Given the description of an element on the screen output the (x, y) to click on. 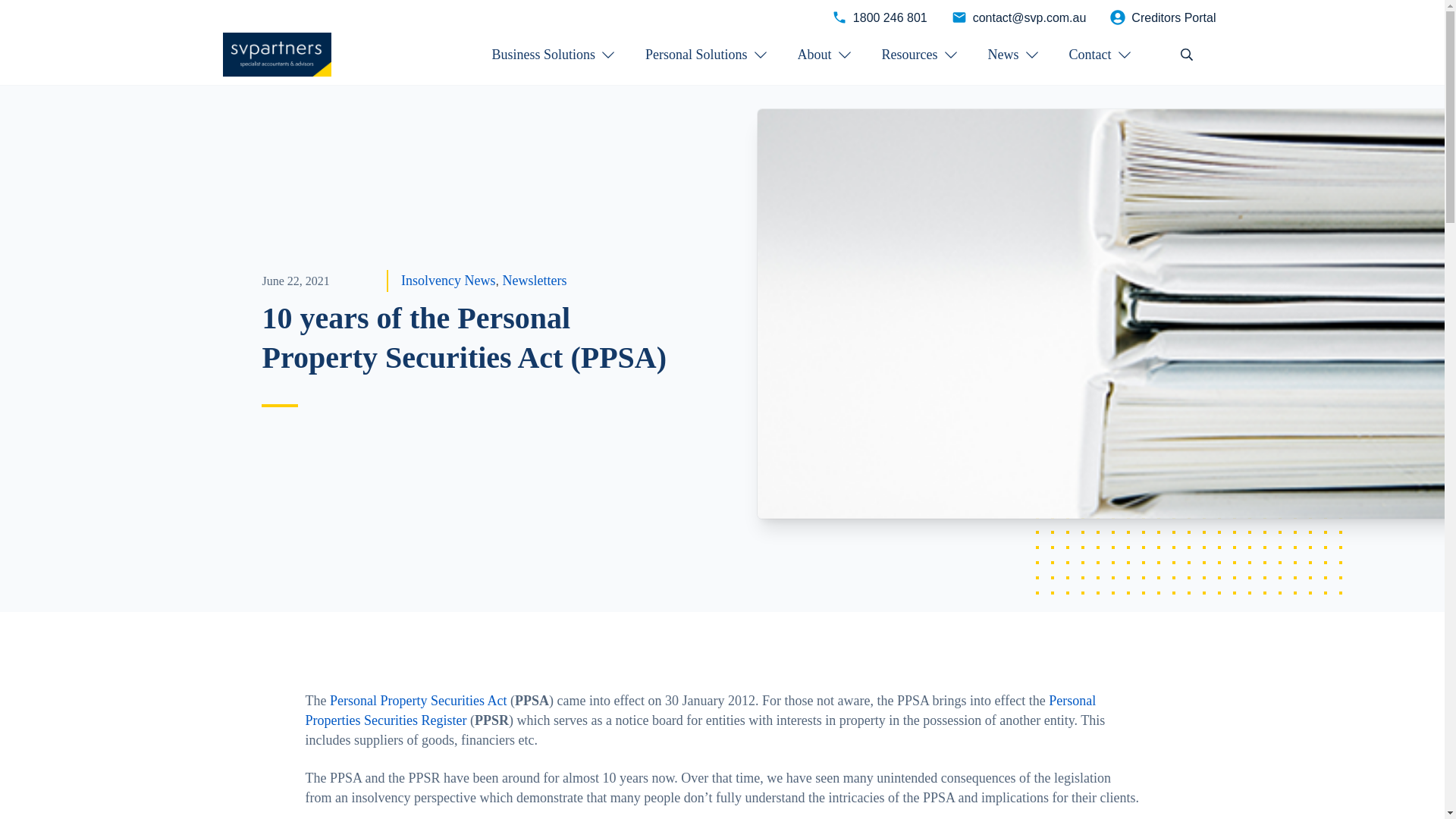
Personal Solutions (706, 53)
Resources (920, 53)
1800 246 801 (879, 17)
Contact (1099, 53)
Newsletters (534, 280)
Business Solutions (553, 53)
News (1013, 53)
Insolvency News (448, 280)
About (824, 53)
Creditors Portal (1162, 17)
